Given the description of an element on the screen output the (x, y) to click on. 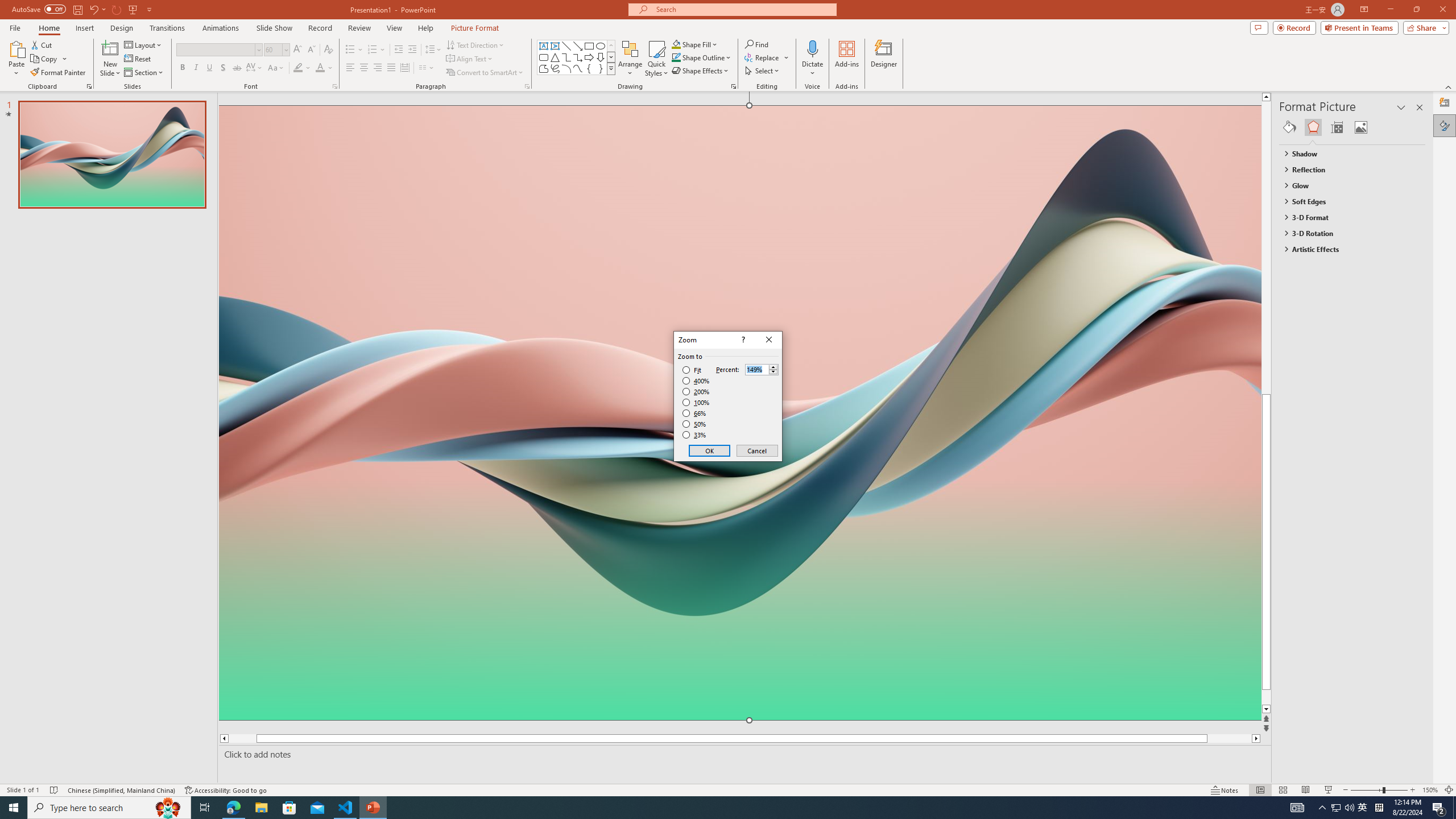
Accessibility Checker Accessibility: Good to go (226, 790)
Justify (390, 67)
Class: NetUIGalleryContainer (1352, 126)
Class: MsoCommandBar (728, 789)
Replace... (762, 56)
Font... (334, 85)
Increase Indent (412, 49)
Line Arrow (577, 45)
Show desktop (1454, 807)
Layout (143, 44)
Font Size (276, 49)
Isosceles Triangle (554, 57)
